Given the description of an element on the screen output the (x, y) to click on. 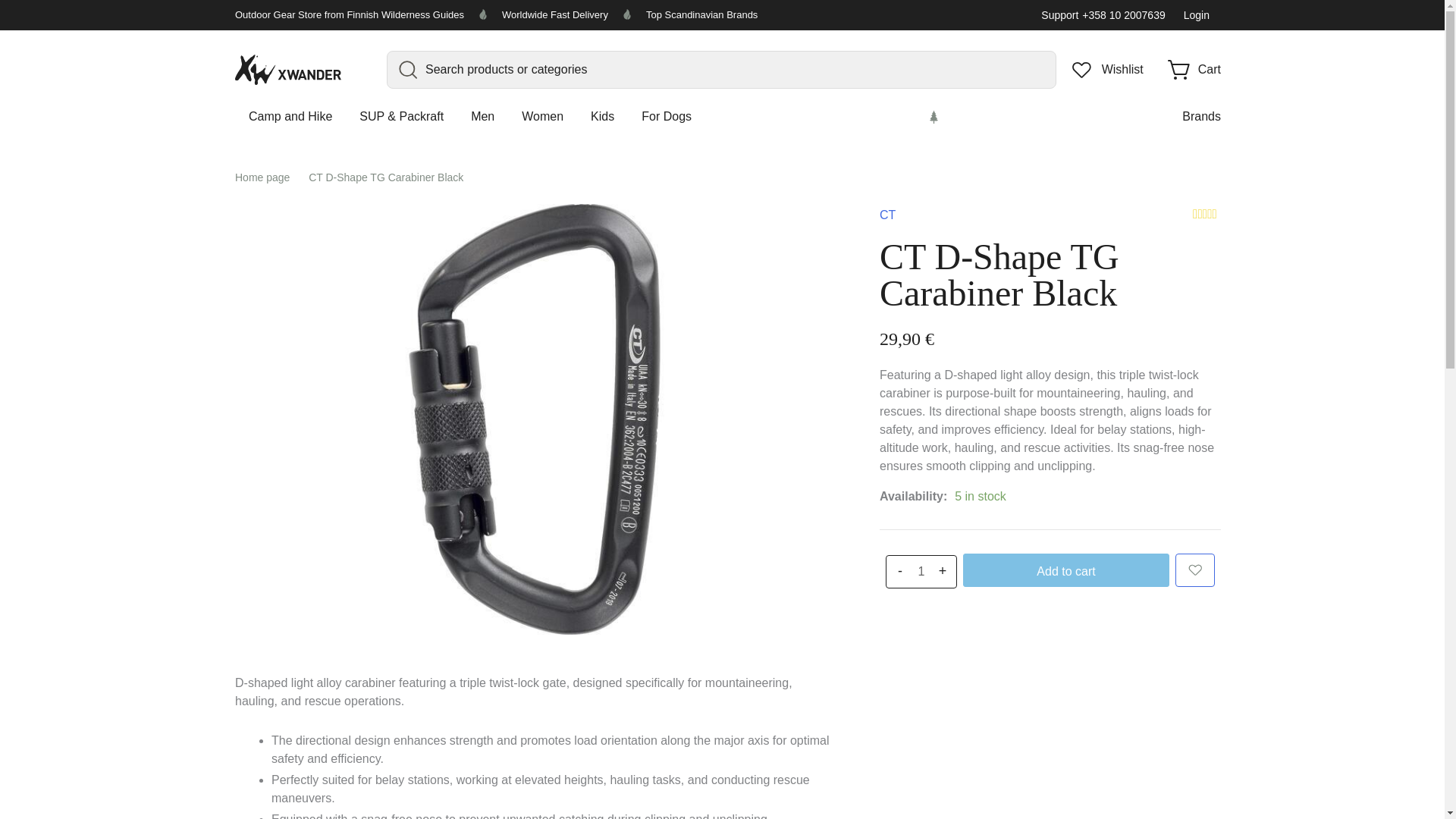
Wishlist (1106, 69)
Login (1197, 15)
Camp and Hike (290, 116)
Cart (1194, 69)
